Given the description of an element on the screen output the (x, y) to click on. 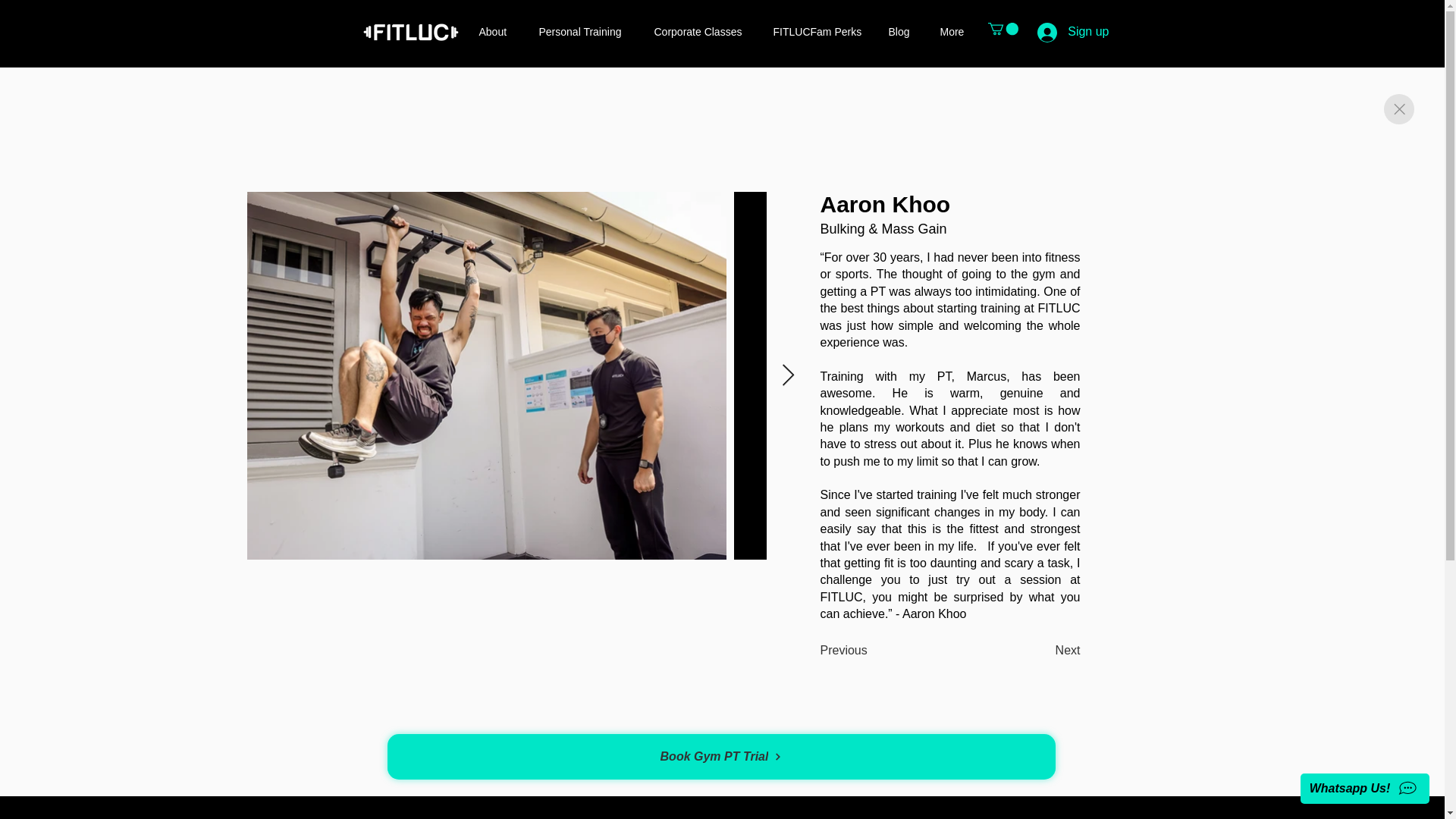
Personal Training (585, 32)
Whatsapp Us! (1364, 788)
Book Gym PT Trial (720, 756)
Previous (844, 651)
Sign up (1072, 32)
About (497, 32)
Corporate Classes (702, 32)
FITLUCFam Perks (818, 32)
